Given the description of an element on the screen output the (x, y) to click on. 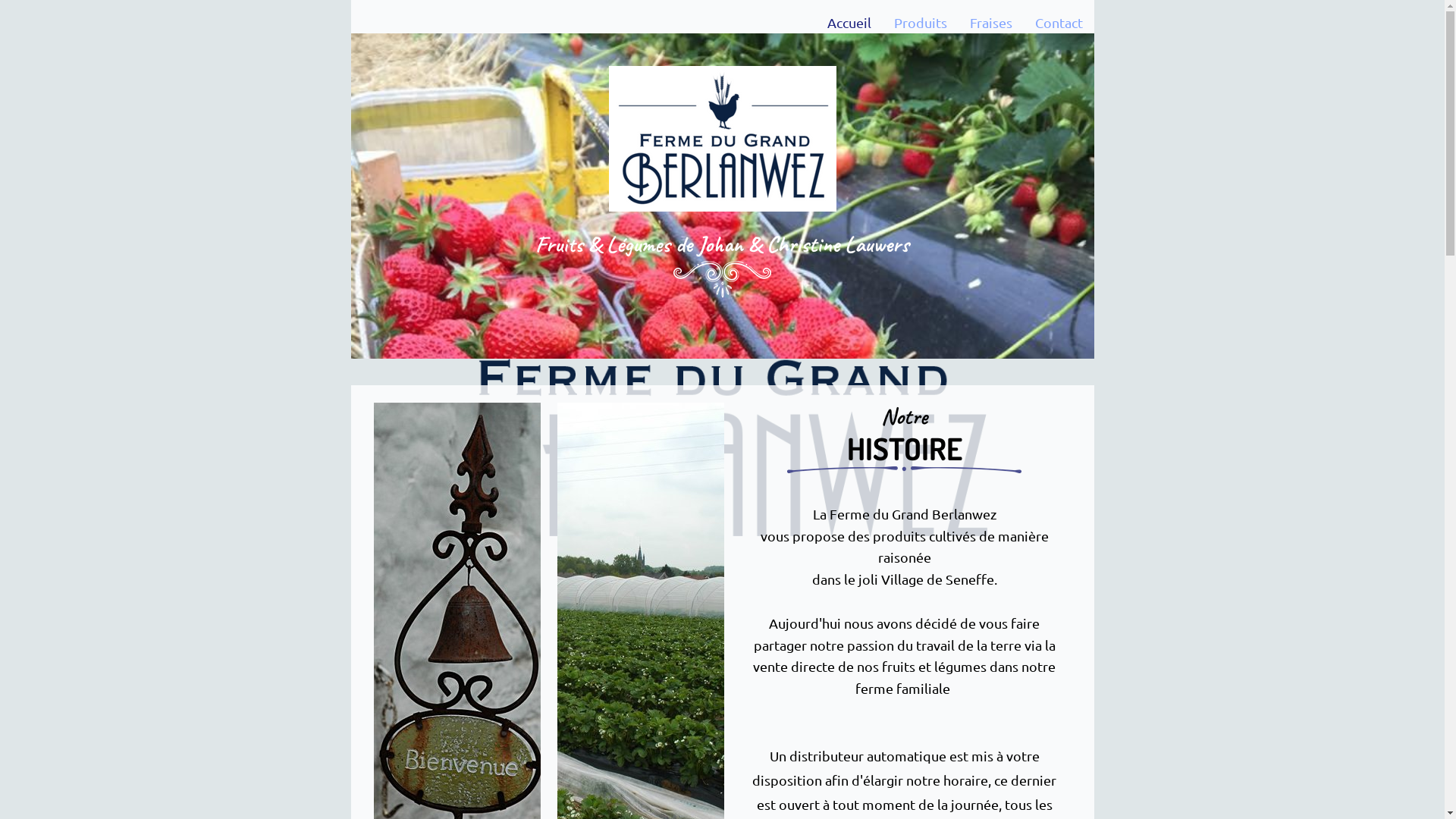
Accueil Element type: text (848, 23)
Contact Element type: text (1058, 23)
Produits Element type: text (920, 23)
Fraises Element type: text (990, 23)
